Given the description of an element on the screen output the (x, y) to click on. 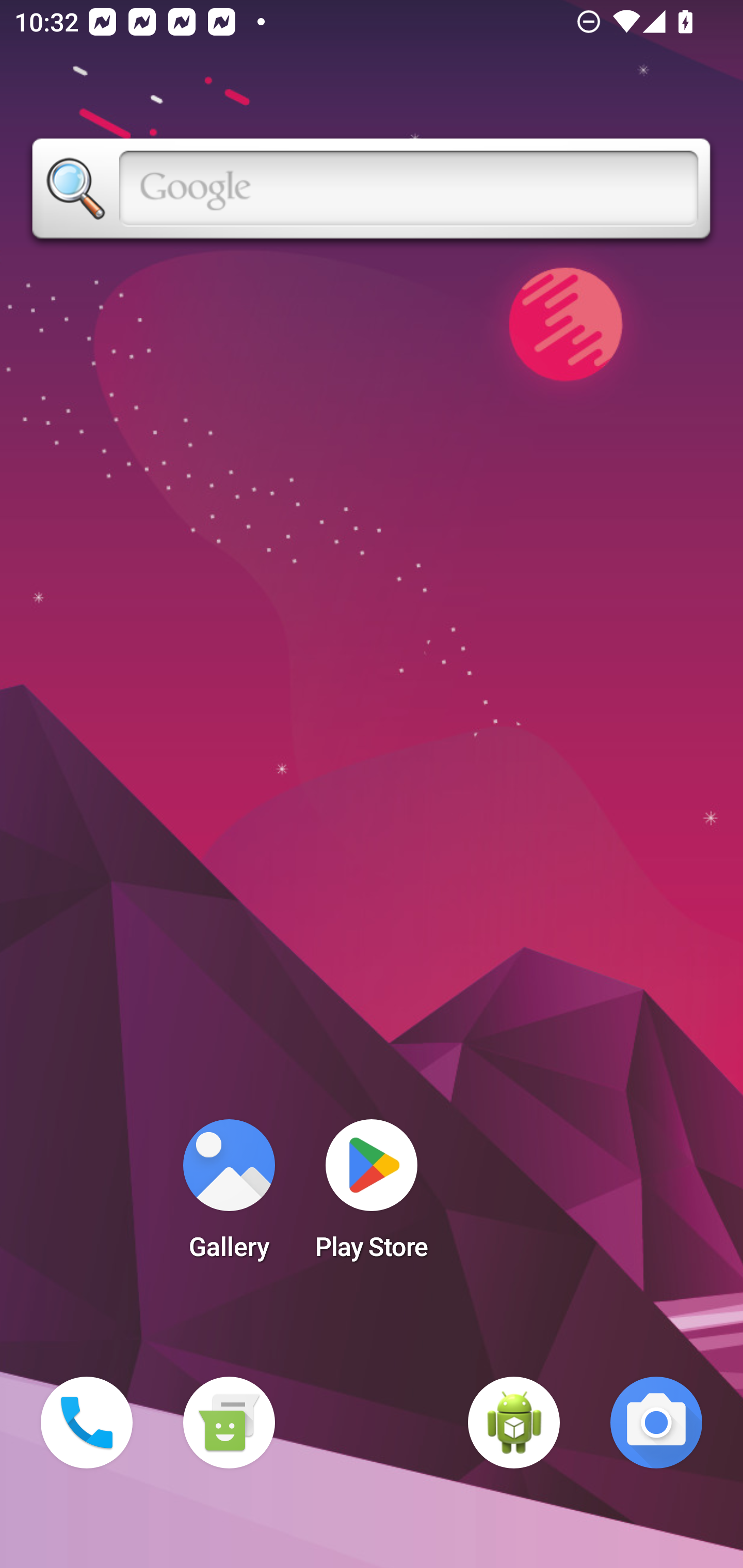
Gallery (228, 1195)
Play Store (371, 1195)
Phone (86, 1422)
Messaging (228, 1422)
WebView Browser Tester (513, 1422)
Camera (656, 1422)
